Given the description of an element on the screen output the (x, y) to click on. 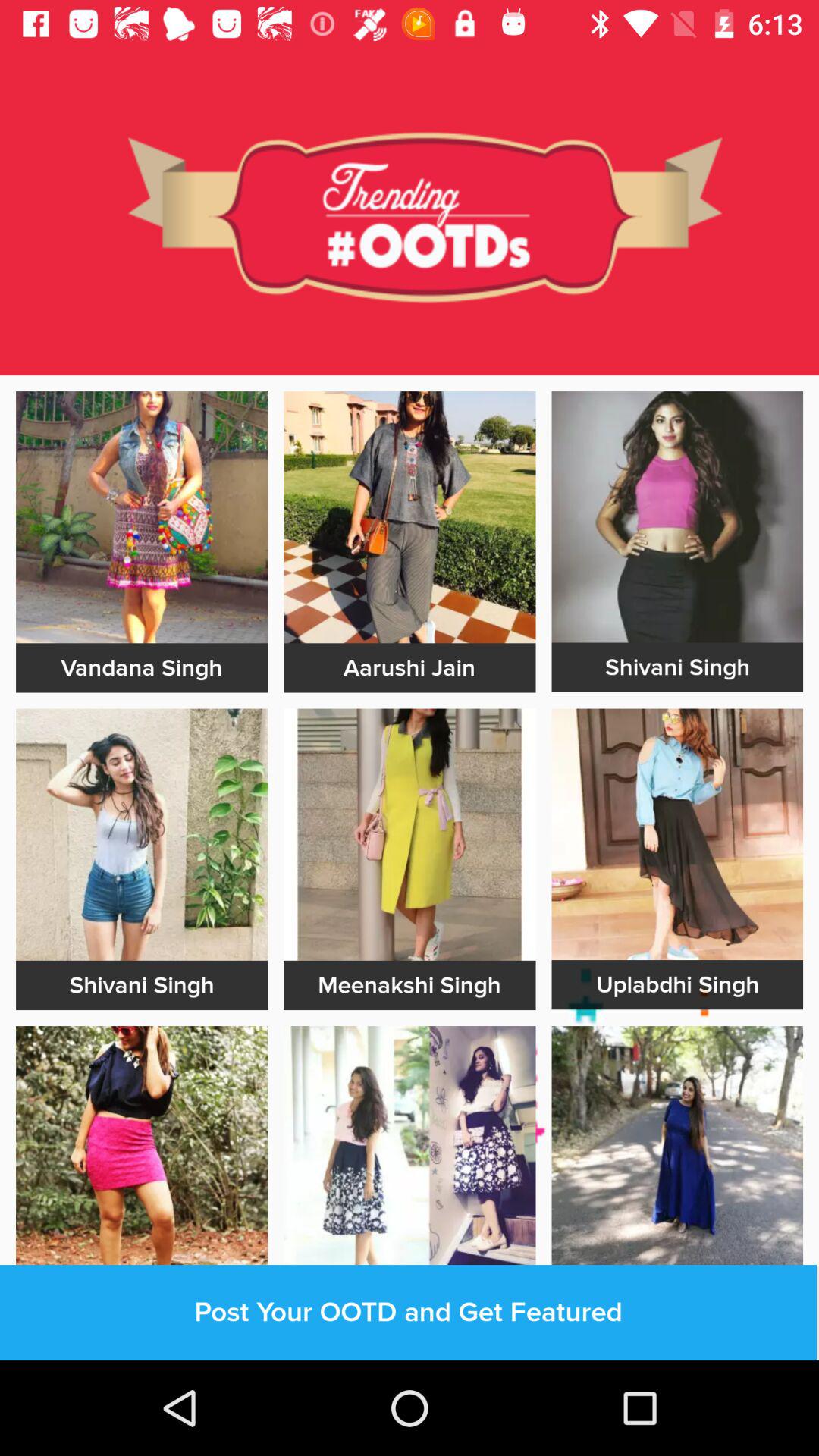
out line (141, 1351)
